Given the description of an element on the screen output the (x, y) to click on. 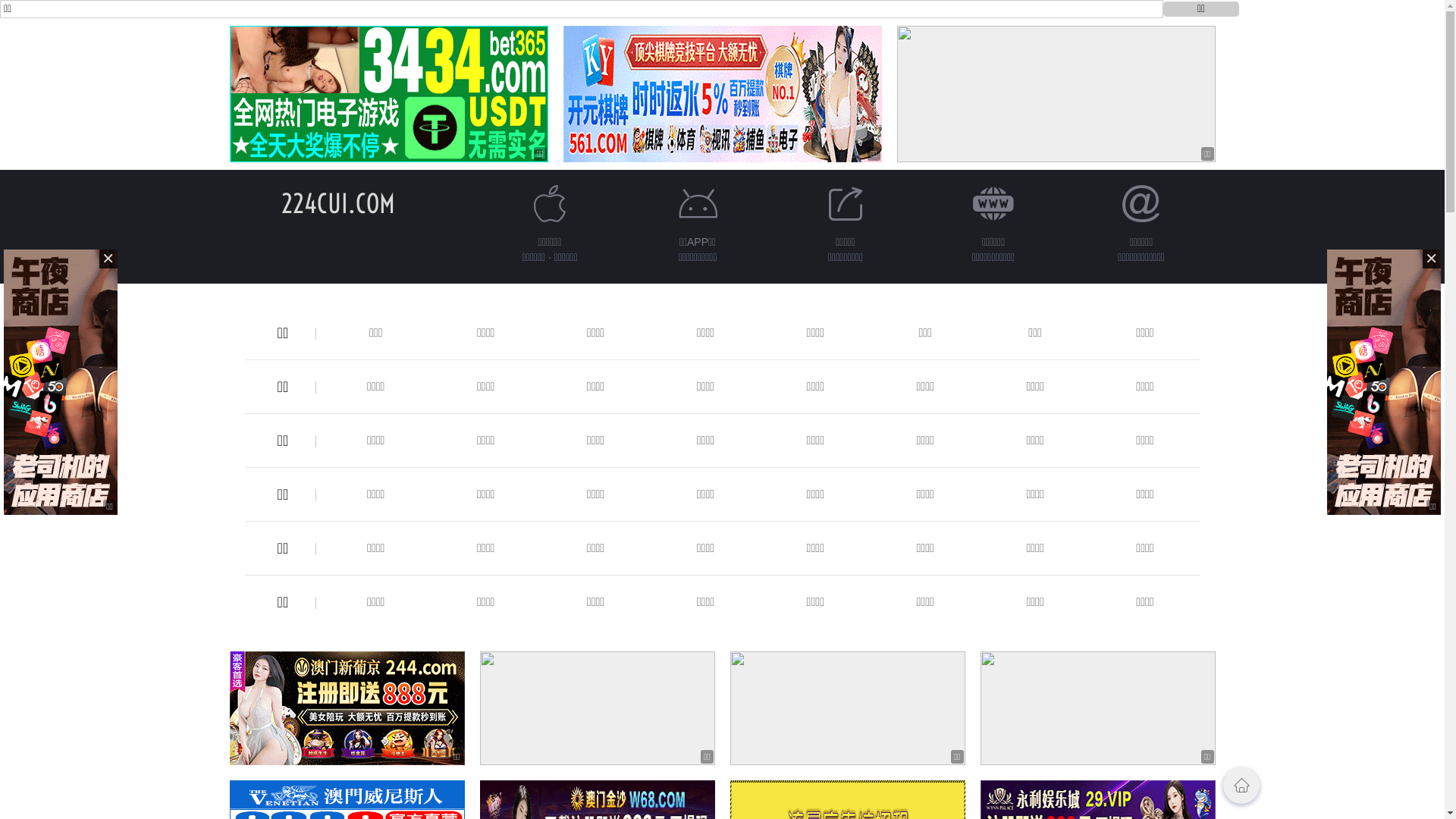
224CUI.COM Element type: text (337, 203)
